Given the description of an element on the screen output the (x, y) to click on. 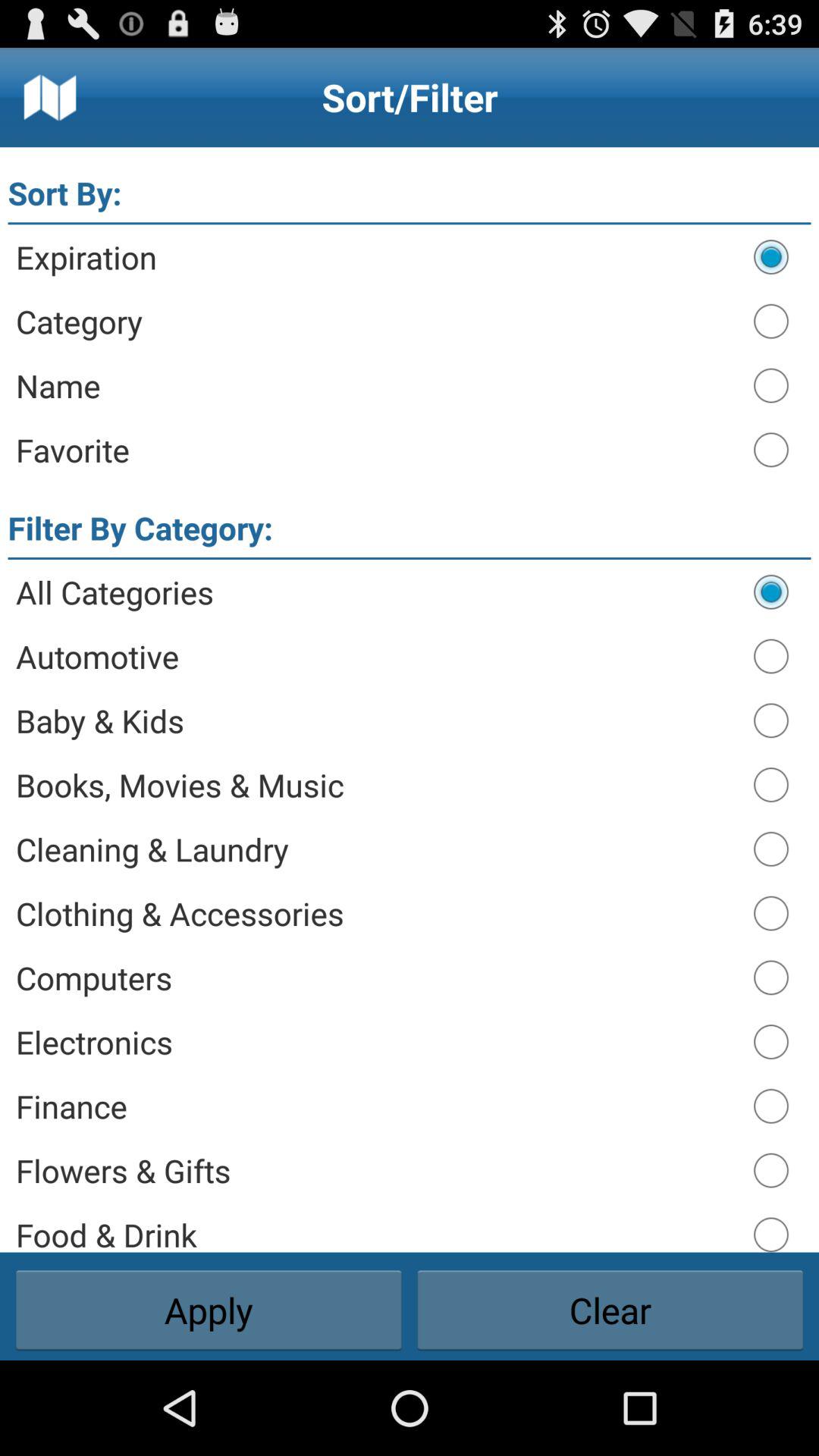
turn off the baby & kids app (377, 720)
